Given the description of an element on the screen output the (x, y) to click on. 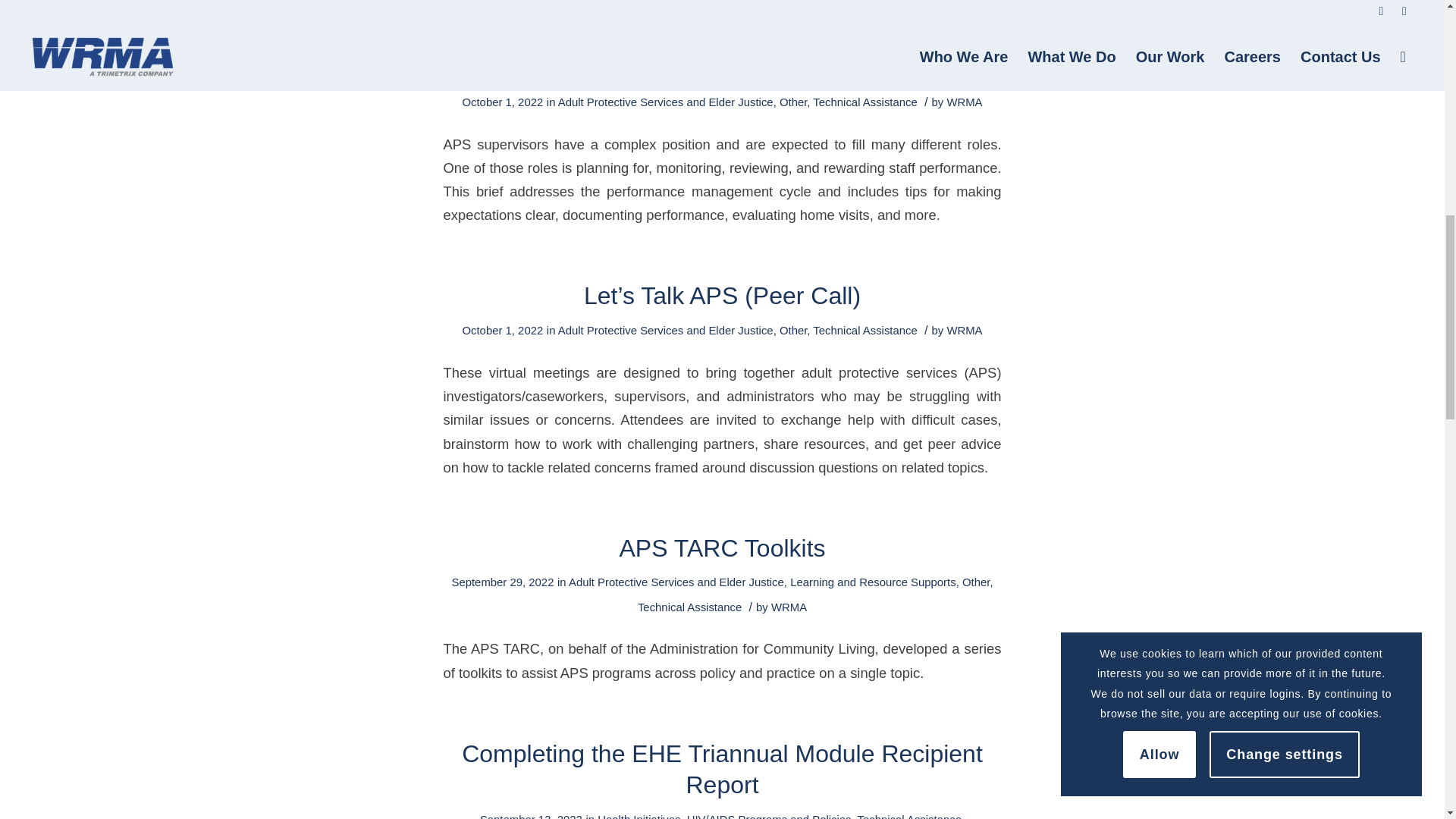
Adult Protective Services and Elder Justice (665, 102)
Posts by WRMA (963, 102)
Performance Management Cycle for APS Supervisors (721, 51)
Technical Assistance (864, 102)
Posts by WRMA (963, 330)
Posts by WRMA (788, 607)
Other (792, 102)
WRMA (963, 102)
